Given the description of an element on the screen output the (x, y) to click on. 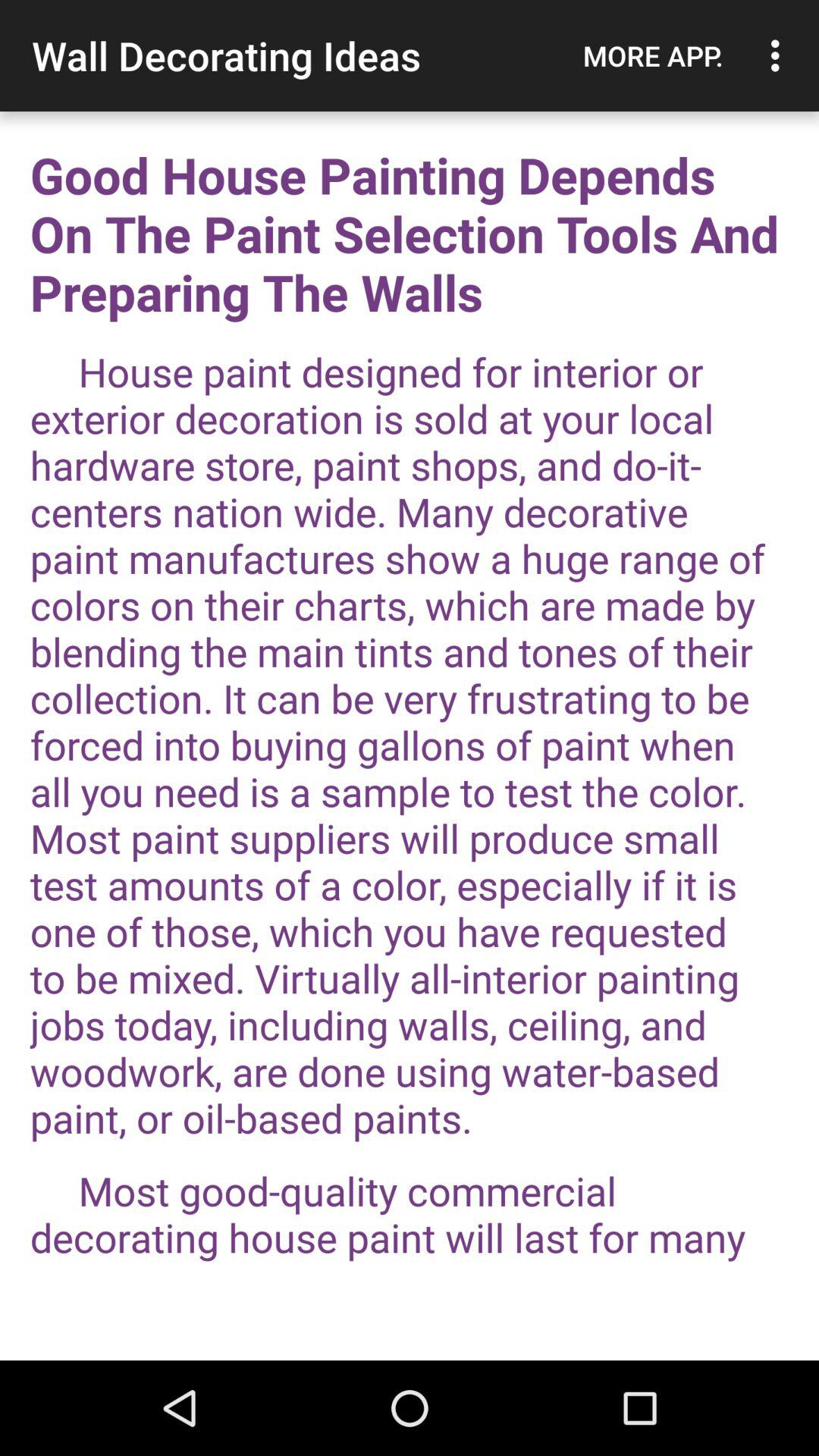
choose app next to wall decorating ideas item (653, 55)
